Given the description of an element on the screen output the (x, y) to click on. 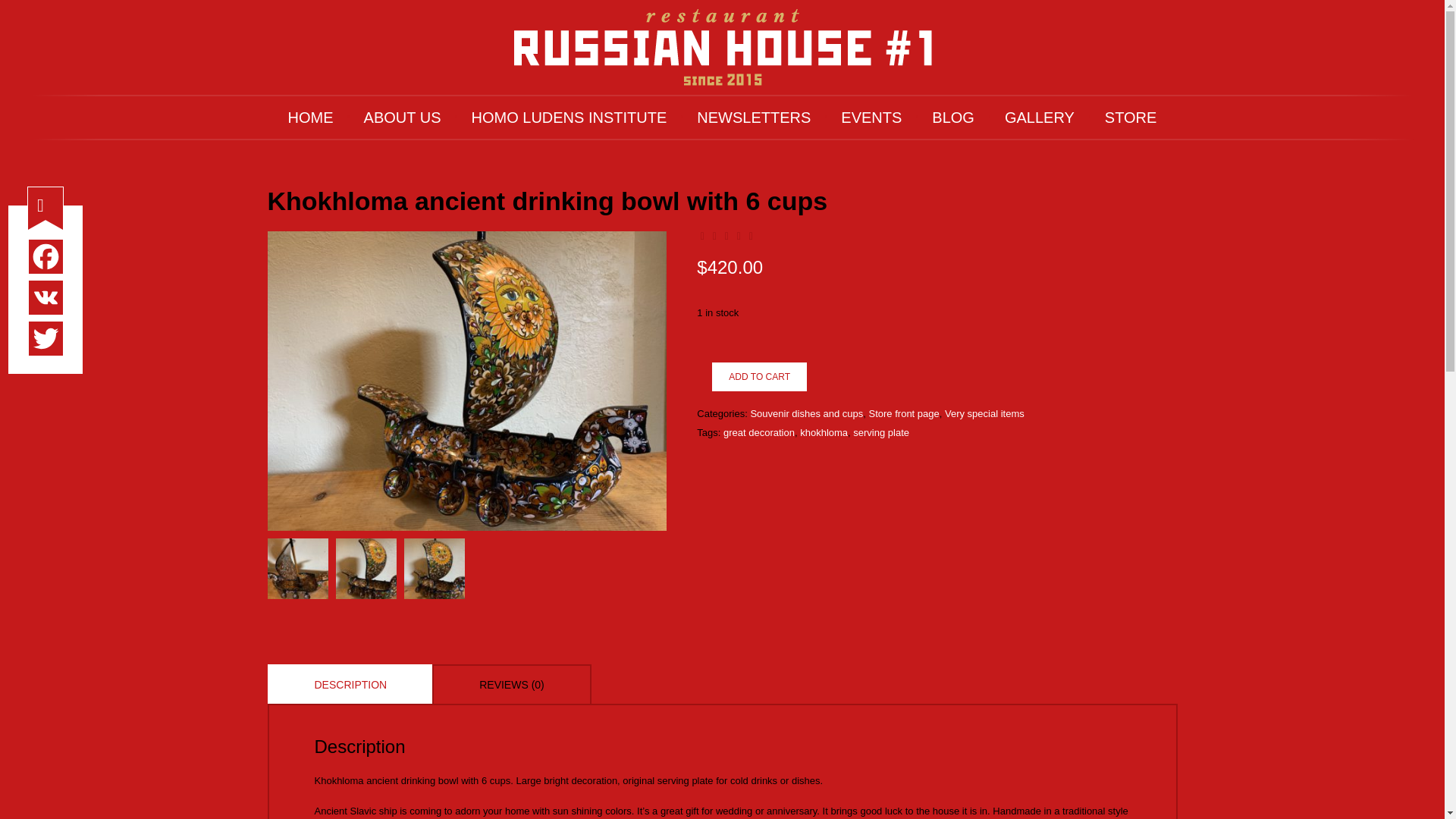
ABOUT US (403, 117)
Souvenir dishes and cups (806, 413)
BLOG (953, 117)
XvwaWKz6S3C2L35GzQhOvA (466, 380)
EVENTS (871, 117)
Rated 0 out of 5 (726, 235)
DESCRIPTION (349, 683)
Twitter (45, 338)
cGYTCurITsmDVNl8eLehGg (430, 565)
Very special items (984, 413)
great decoration (758, 432)
NEWSLETTERS (753, 117)
nvzFo7ZiQtarhzzUeVCg8A (293, 565)
Store front page (904, 413)
ADD TO CART (758, 376)
